Given the description of an element on the screen output the (x, y) to click on. 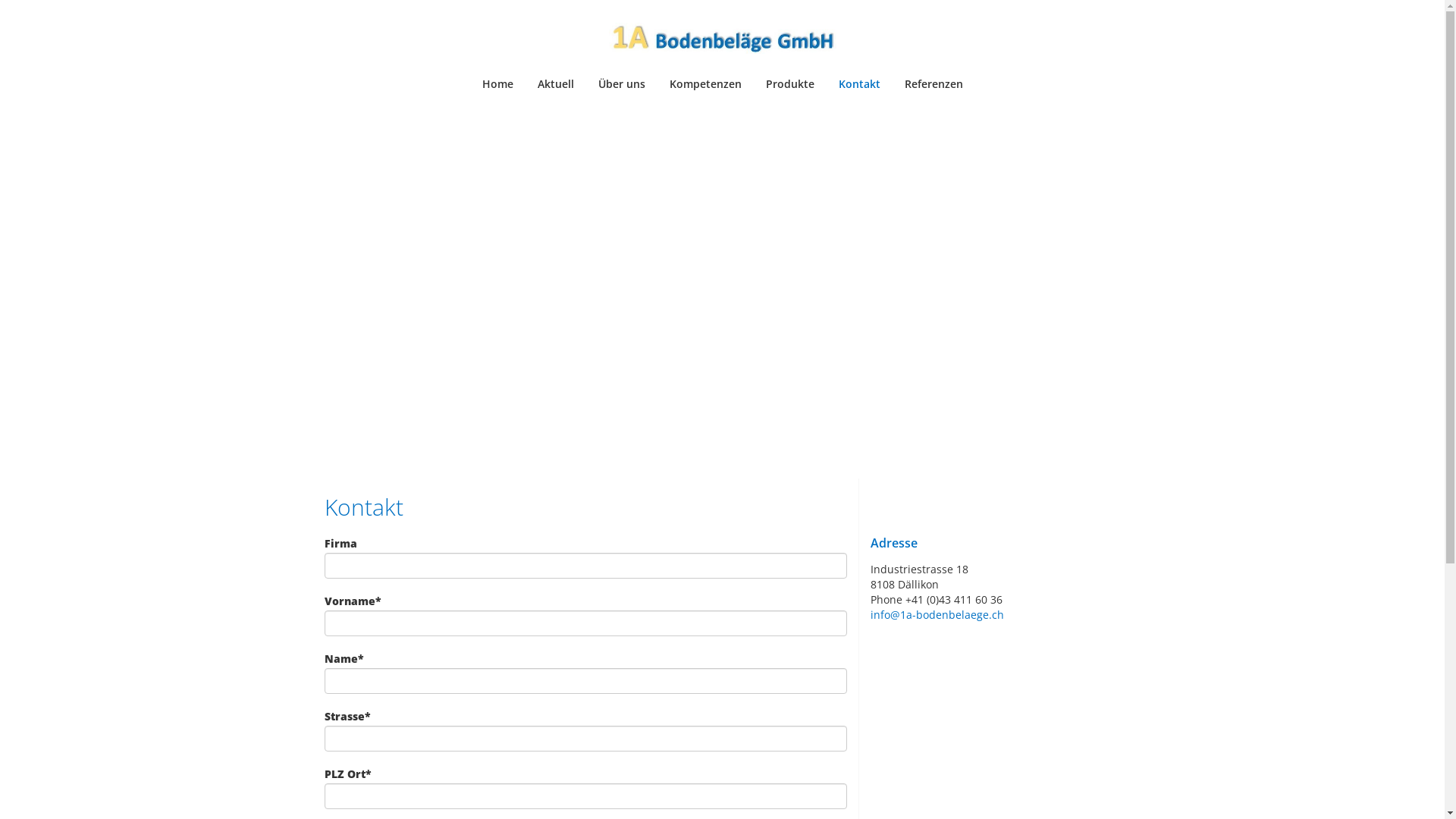
Home Element type: text (497, 84)
Produkte Element type: text (789, 84)
info@1a-bodenbelaege.ch Element type: text (937, 614)
Kompetenzen Element type: text (704, 84)
Referenzen Element type: text (932, 84)
Aktuell Element type: text (554, 84)
Kontakt Element type: text (859, 84)
